Given the description of an element on the screen output the (x, y) to click on. 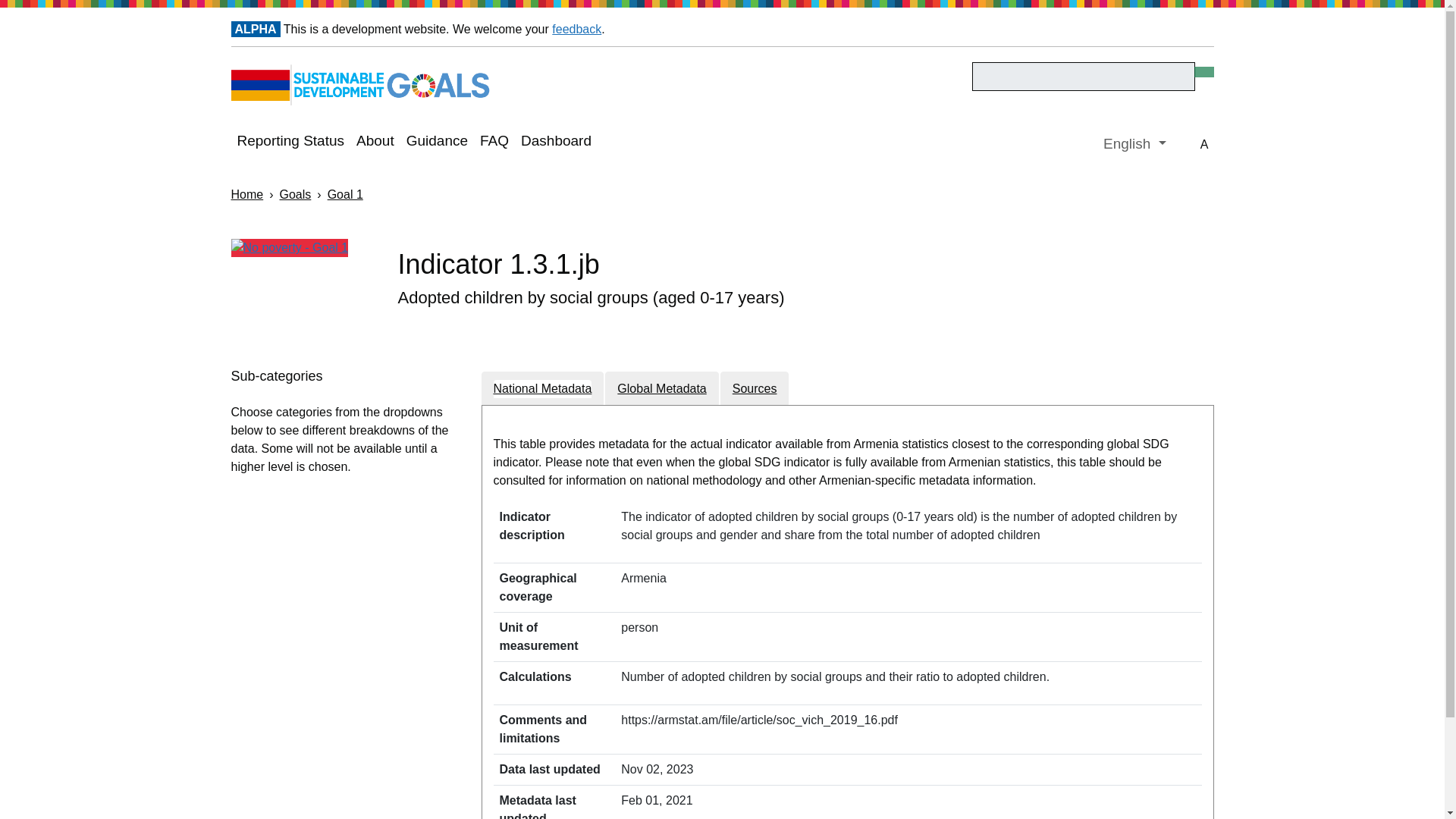
Go to homepage (363, 84)
feedback (576, 29)
Home (246, 194)
About (375, 142)
Sources (754, 389)
A (1204, 144)
View targets and indicators for Goal 1 (303, 248)
Reporting Status (289, 142)
English (1133, 143)
Global Metadata (661, 389)
Enable high contrast (1204, 144)
Guidance (436, 142)
Search (1083, 76)
Goal 1 (344, 194)
National Metadata (542, 389)
